Given the description of an element on the screen output the (x, y) to click on. 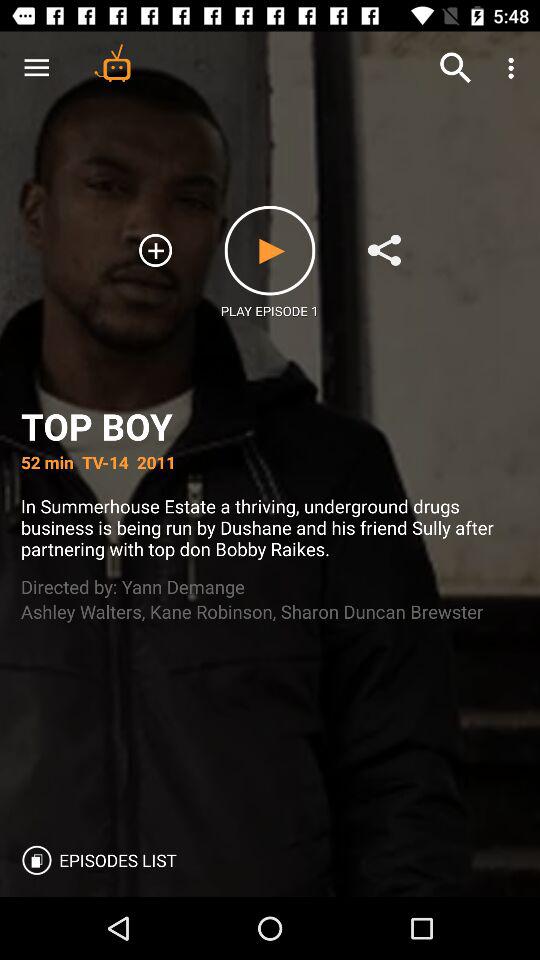
add to (155, 250)
